Given the description of an element on the screen output the (x, y) to click on. 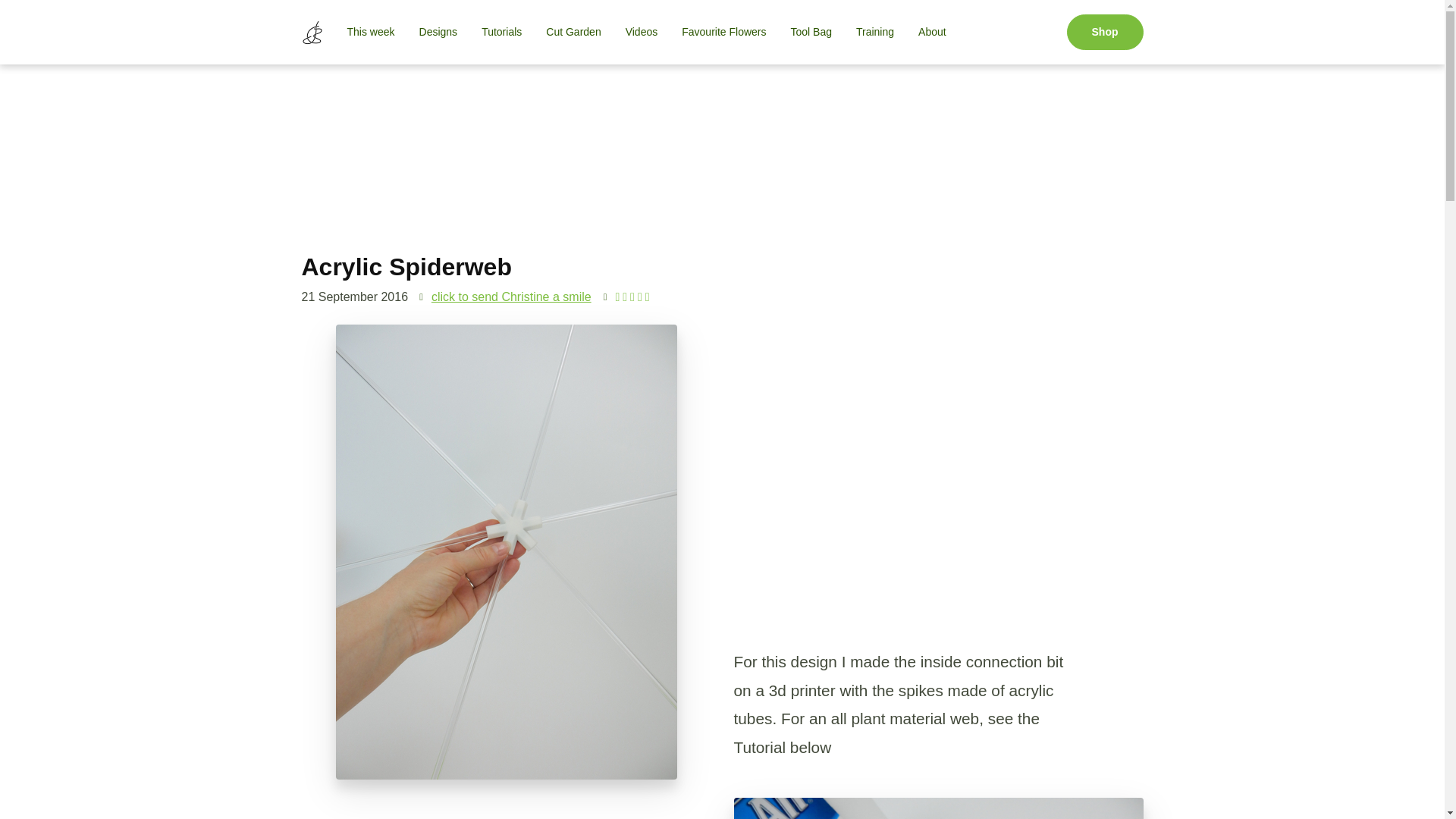
Tool Bag (810, 32)
About (931, 32)
Designs (438, 32)
Shop (1103, 31)
Training (874, 32)
Videos (640, 32)
Favourite Flowers (723, 32)
Cover wool with Spanish Moss (937, 808)
This week (370, 32)
Tutorials (501, 32)
